Given the description of an element on the screen output the (x, y) to click on. 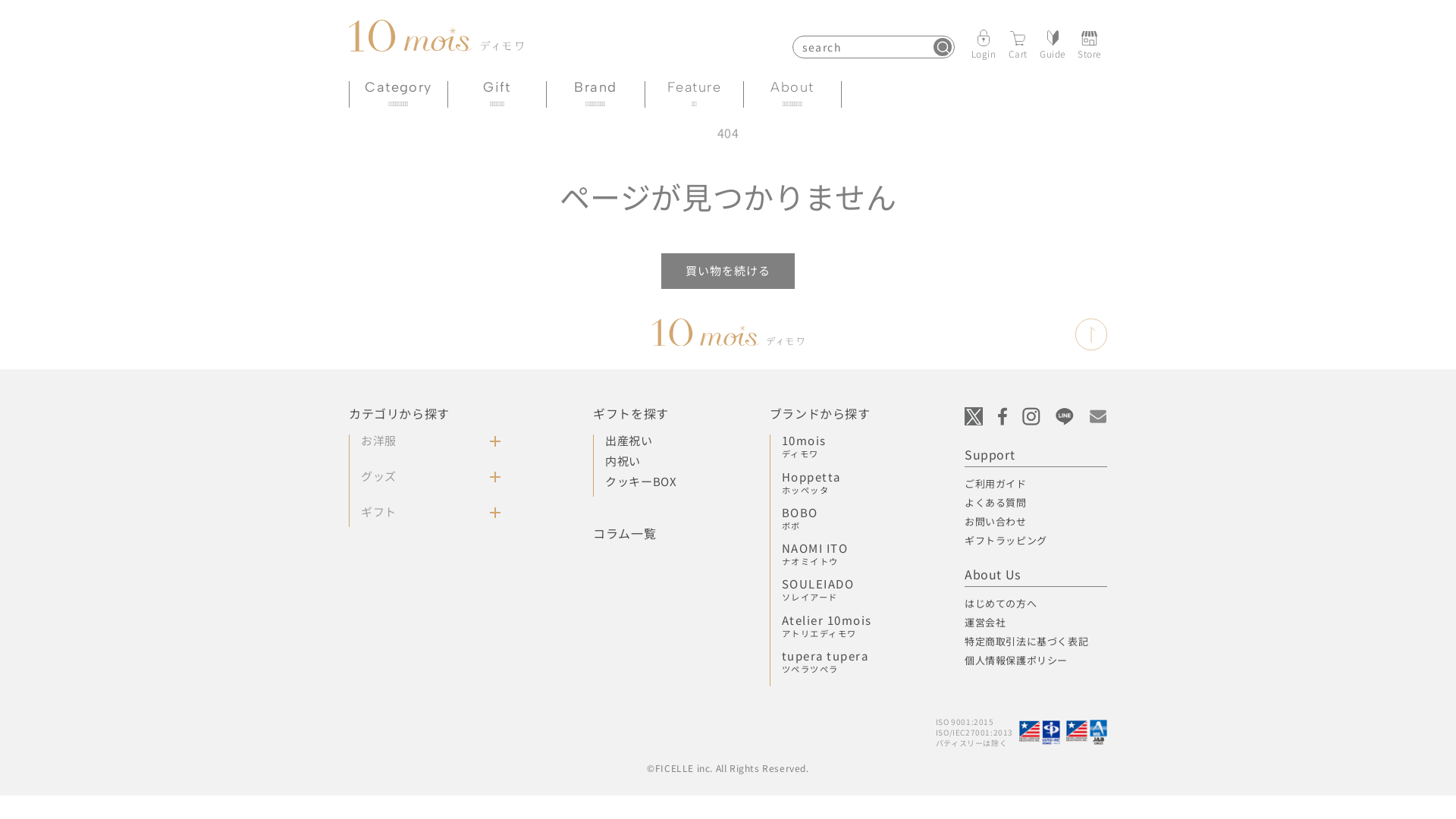
Cart Element type: text (1017, 43)
Store Element type: text (1089, 43)
Login Element type: text (983, 43)
Guide Element type: text (1052, 43)
